Given the description of an element on the screen output the (x, y) to click on. 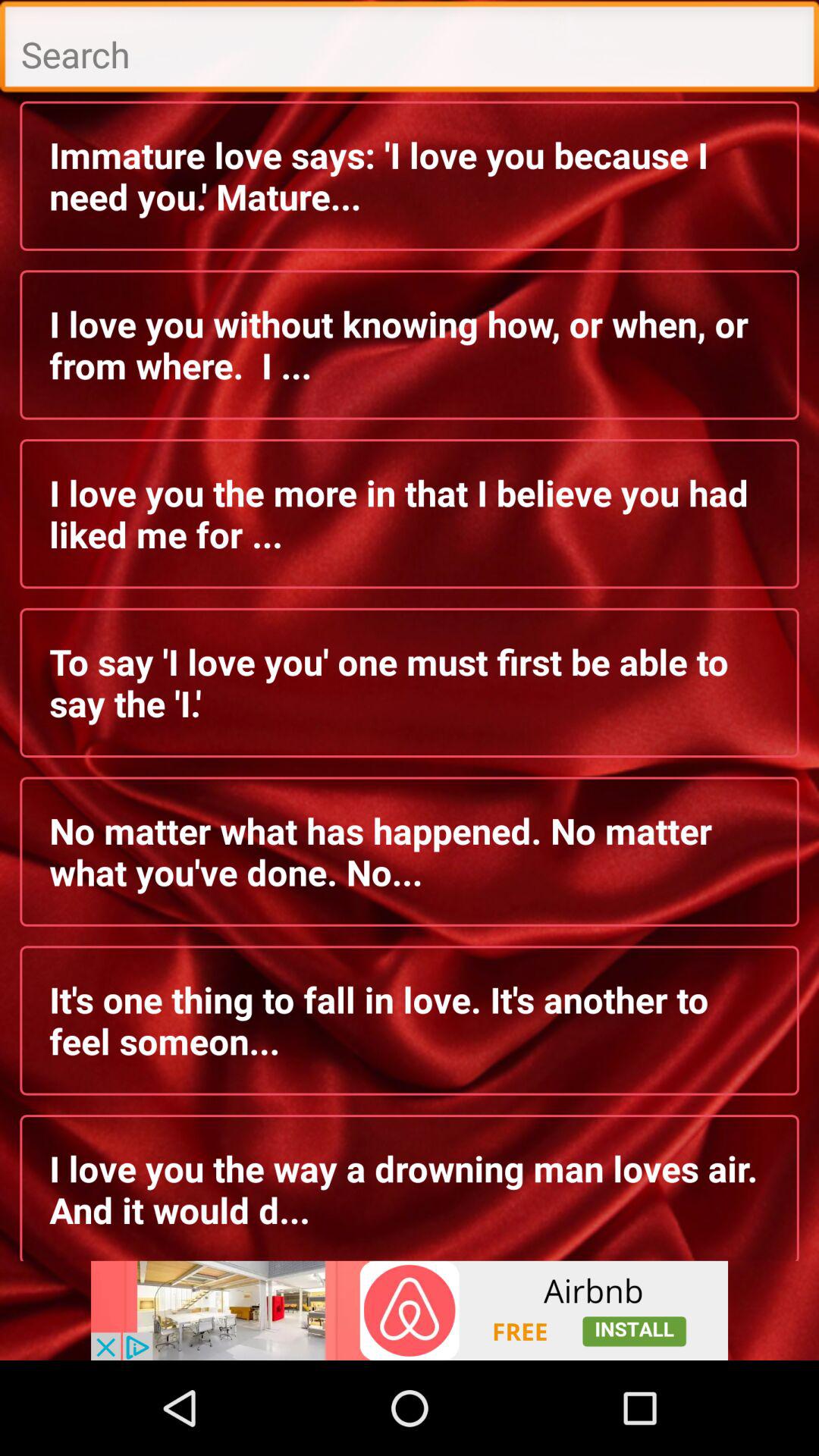
enter a search term (409, 50)
